Given the description of an element on the screen output the (x, y) to click on. 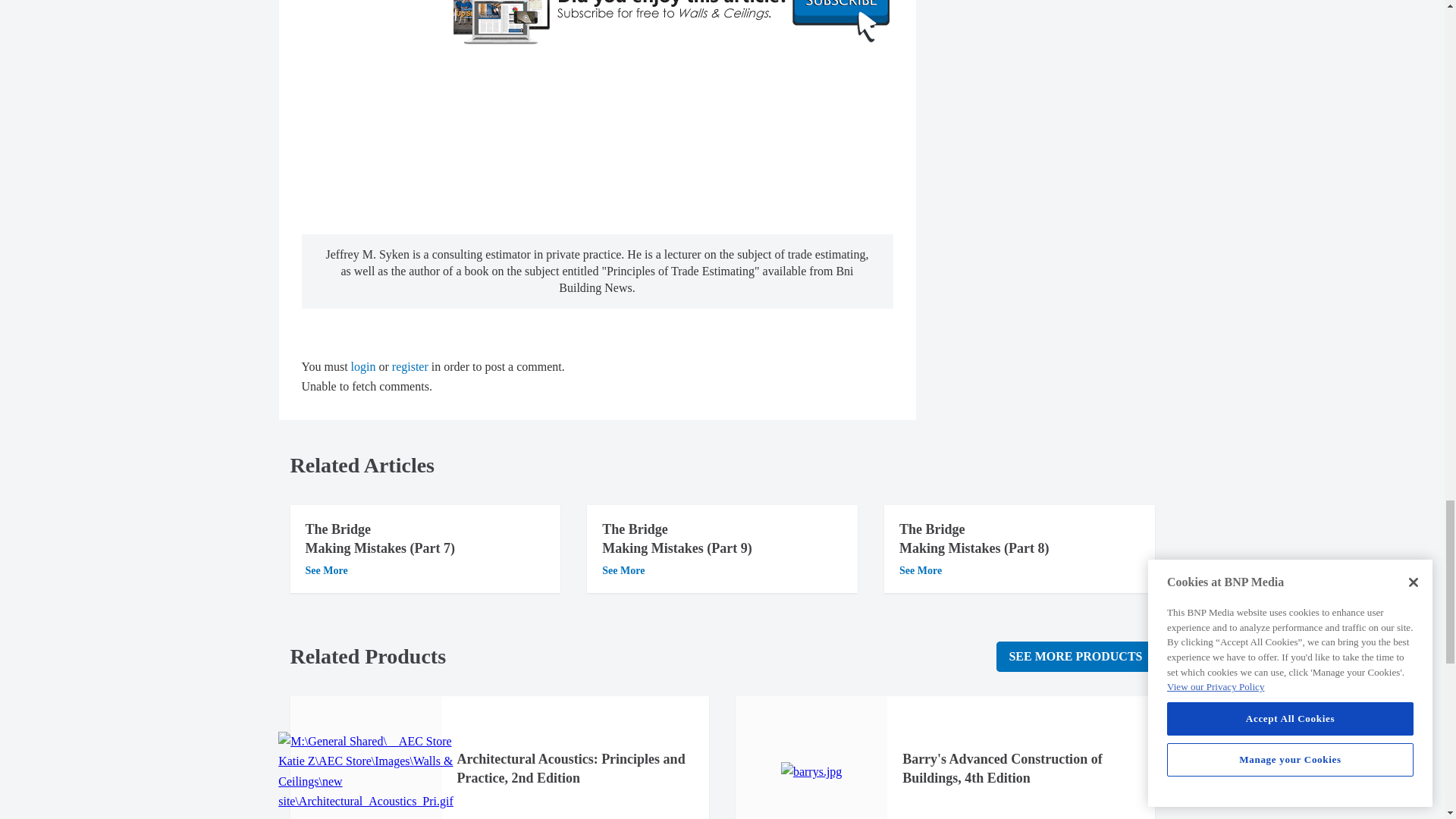
barrys.jpg (810, 772)
Interaction questions (597, 141)
Interaction questions (1052, 36)
